Given the description of an element on the screen output the (x, y) to click on. 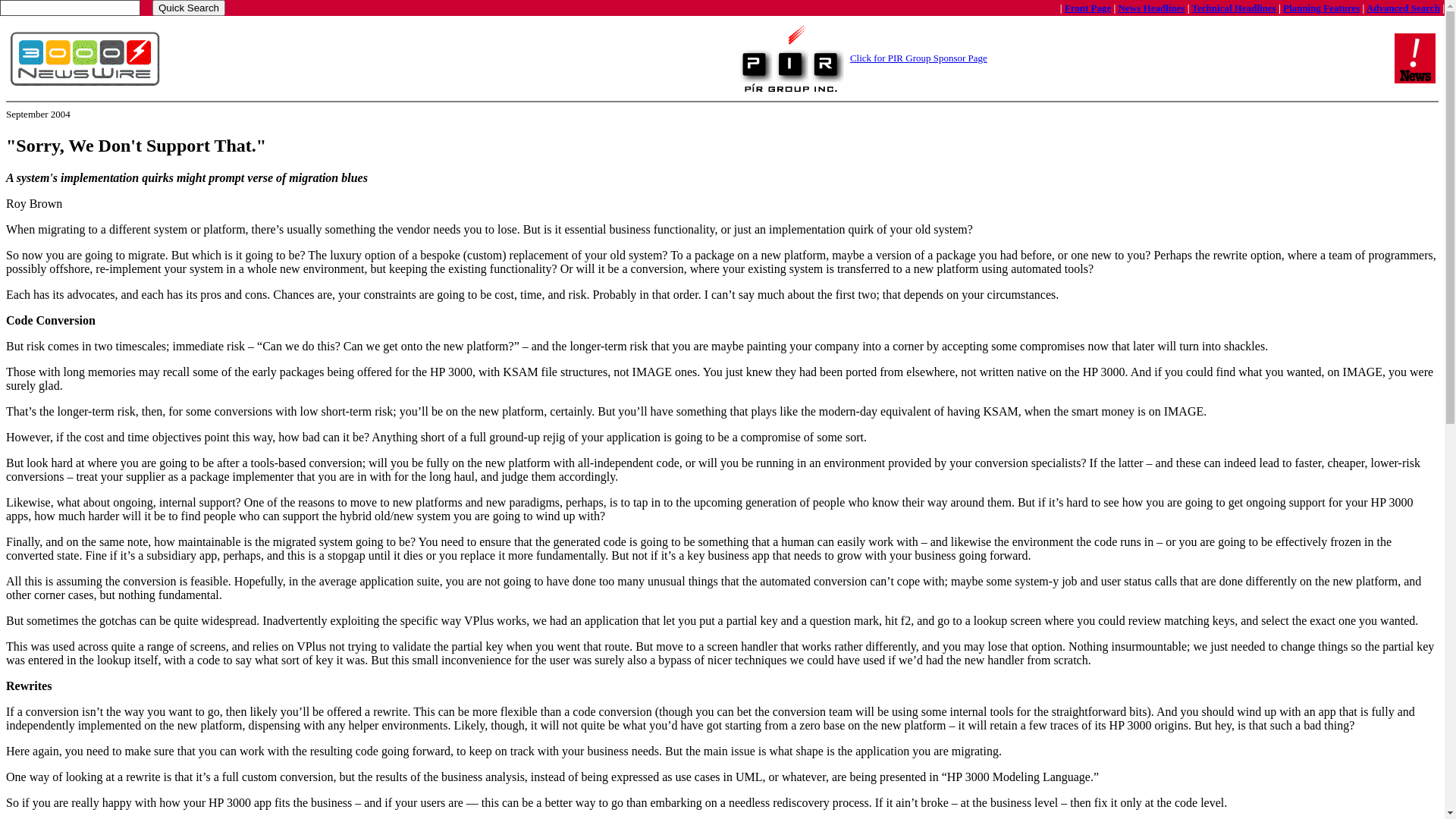
Planning Features Element type: text (1321, 6)
Click for PIR Group Sponsor Page Element type: text (918, 56)
Front Page Element type: text (1087, 6)
Quick Search Element type: text (188, 7)
News Headlines Element type: text (1151, 6)
Advanced Search Element type: text (1403, 6)
Technical Headlines Element type: text (1234, 6)
